Given the description of an element on the screen output the (x, y) to click on. 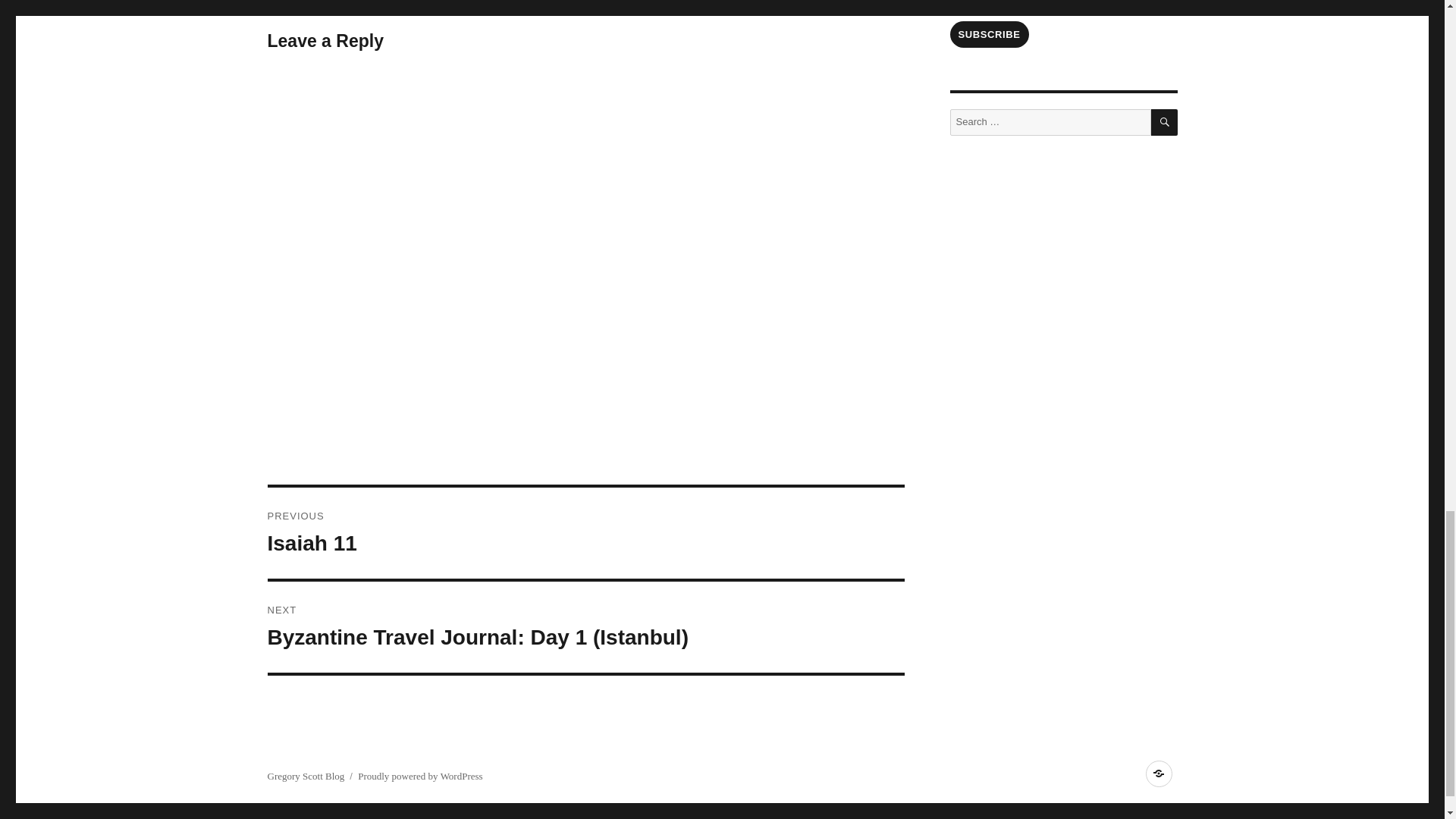
Comment Form (585, 532)
